Given the description of an element on the screen output the (x, y) to click on. 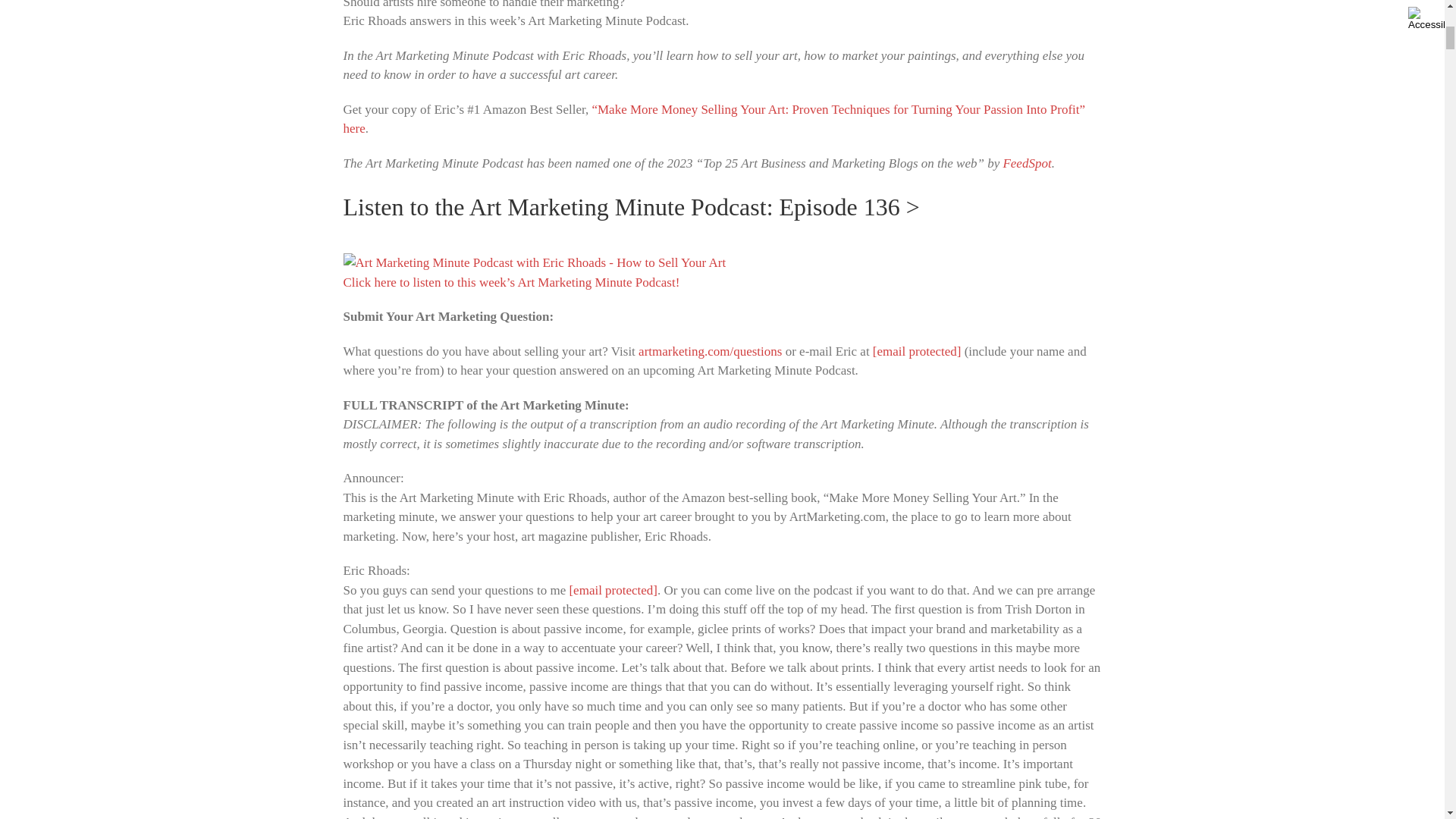
FeedSpot (1027, 163)
